Given the description of an element on the screen output the (x, y) to click on. 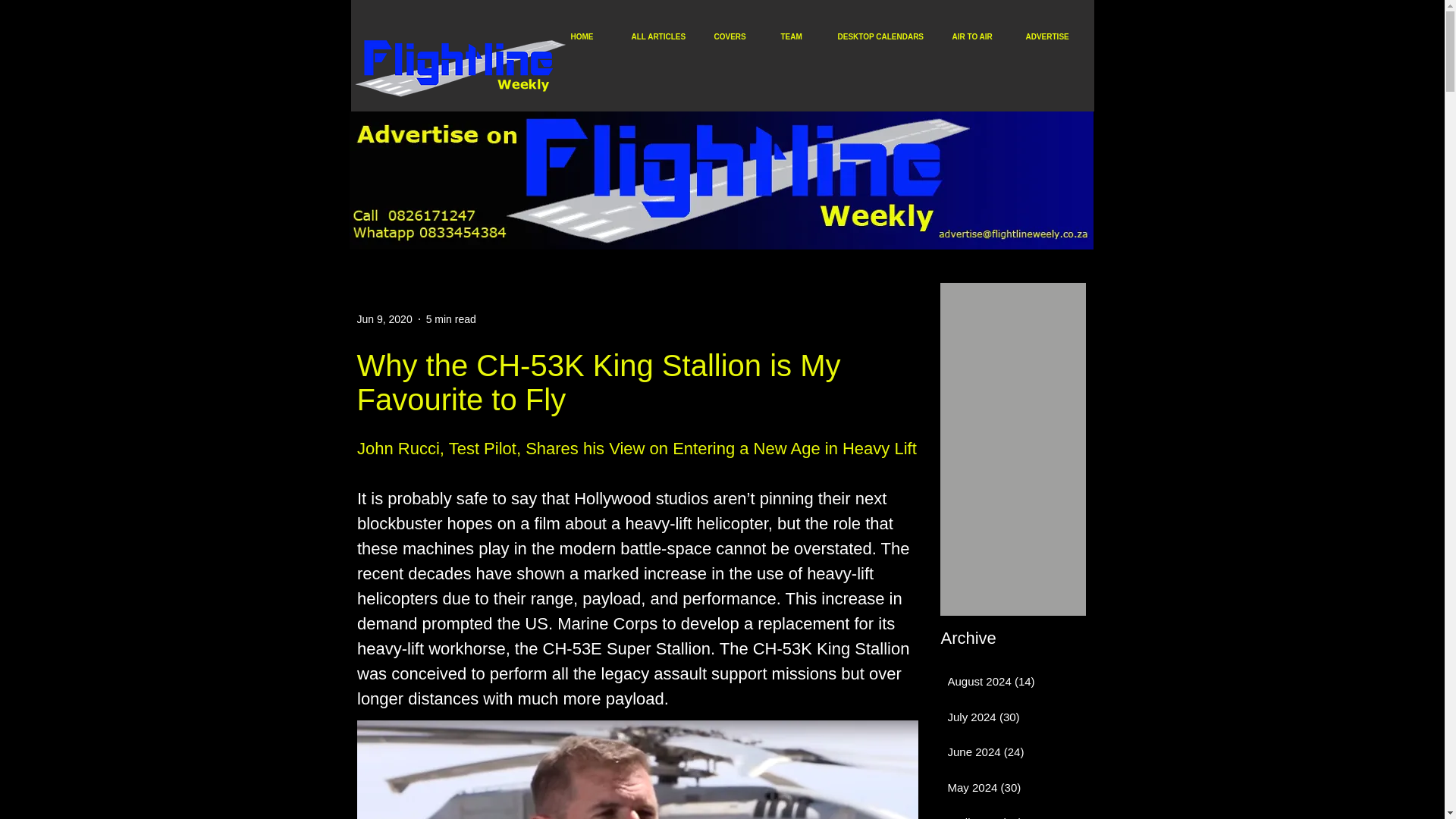
TEAM (801, 36)
AIR TO AIR (980, 36)
HOME (592, 36)
DESKTOP CALENDARS (886, 36)
Jun 9, 2020 (384, 318)
5 min read (451, 318)
COVERS (739, 36)
ADVERTISE (1053, 36)
ALL ARTICLES (664, 36)
